Given the description of an element on the screen output the (x, y) to click on. 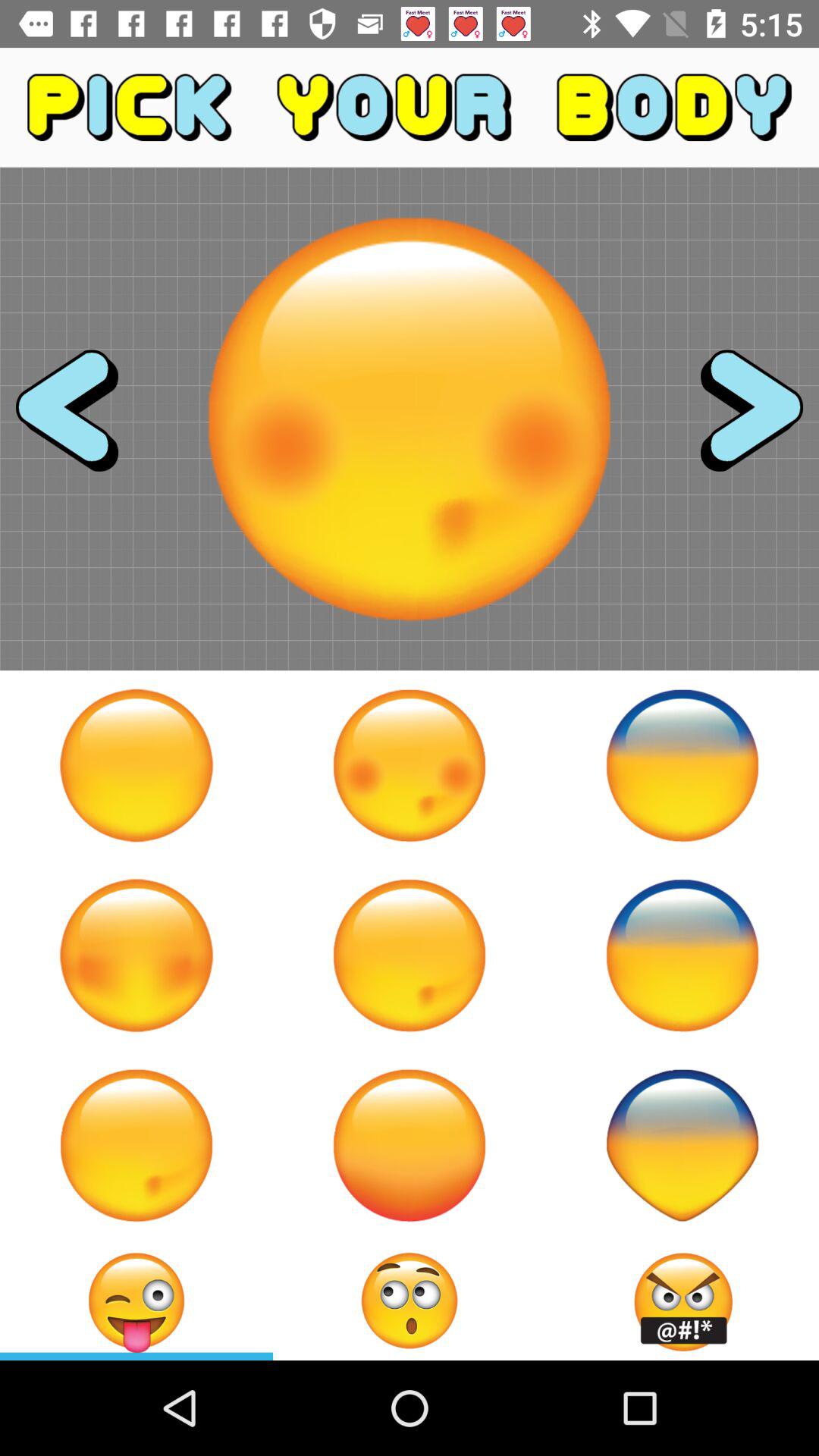
pick this emoji (409, 1145)
